Given the description of an element on the screen output the (x, y) to click on. 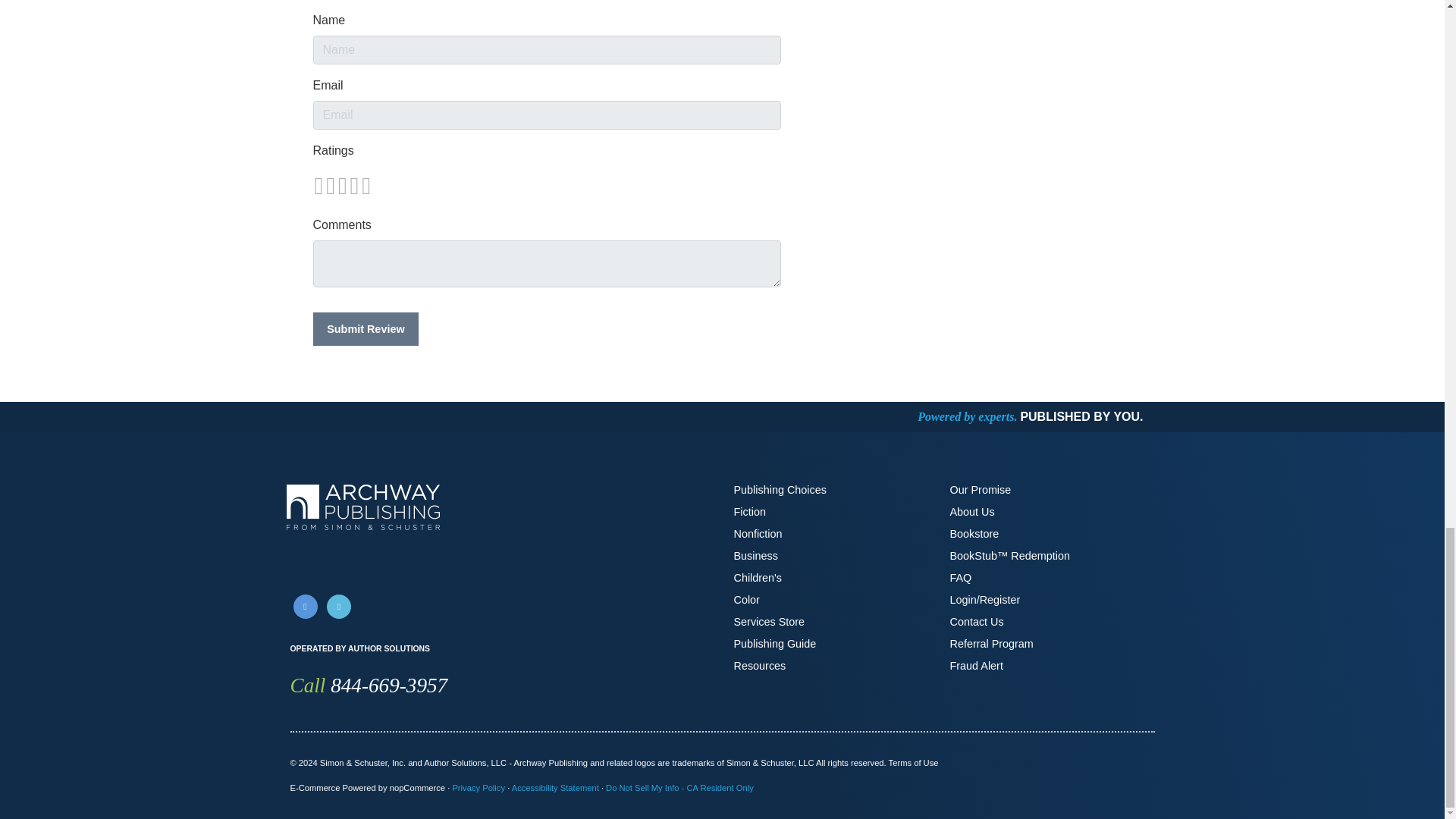
Submit Review (366, 328)
Not Rated (342, 185)
Color (746, 598)
Publishing Choices (780, 490)
Fiction (749, 510)
Nonfiction (758, 533)
Business (755, 554)
Our Promise (979, 490)
About Us (971, 510)
Publishing Guide (774, 643)
Children's (758, 577)
Services Store (769, 621)
Submit Review (366, 328)
Bookstore (973, 533)
Resources (759, 665)
